Given the description of an element on the screen output the (x, y) to click on. 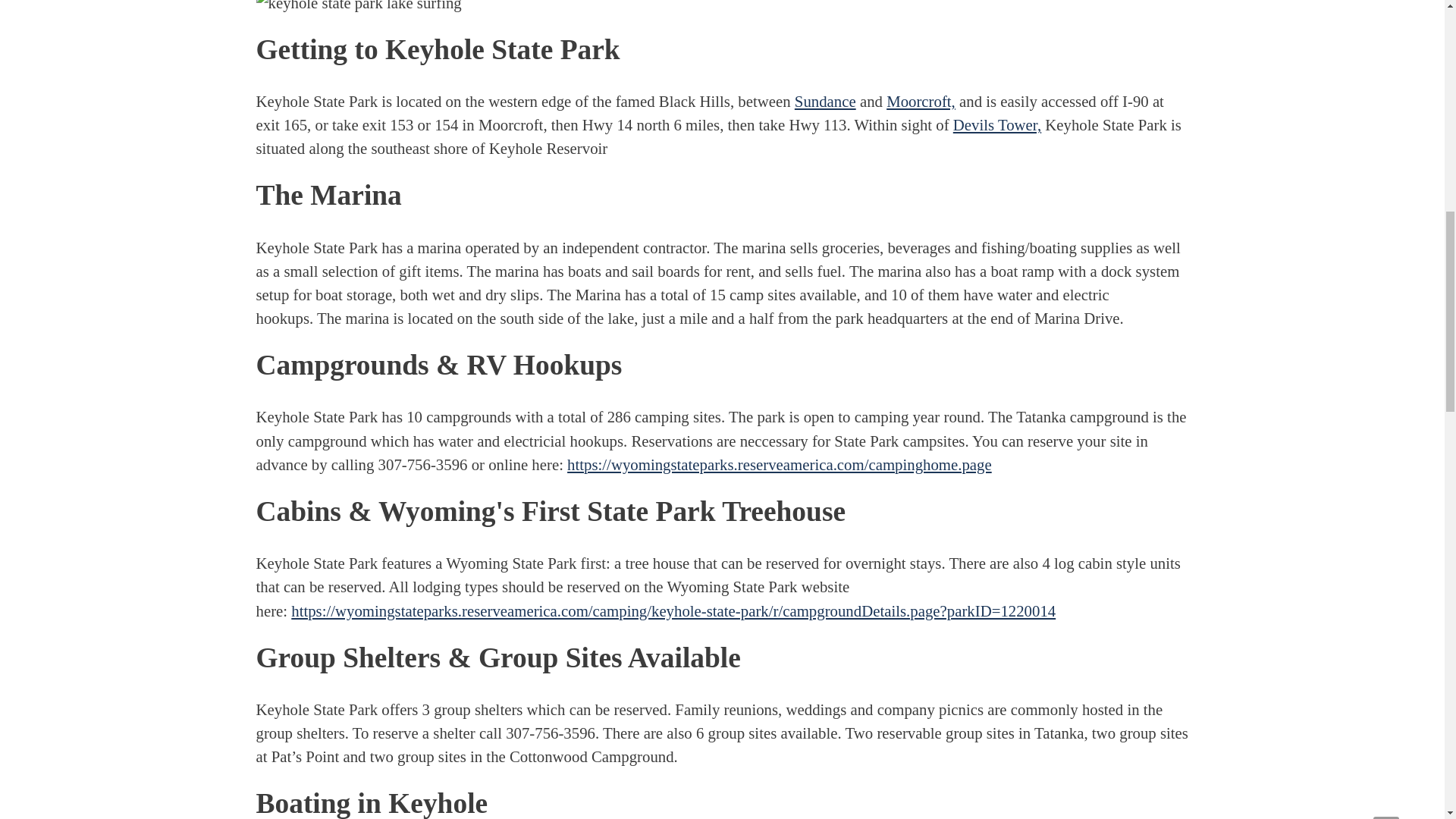
Devils Tower National Monument (997, 124)
Sundance (825, 100)
Keyhole State Park Cabin Reservations (673, 610)
Reserve a Wyoming State Park Campsite (779, 464)
Moorcroft, Wyoming (920, 100)
